Given the description of an element on the screen output the (x, y) to click on. 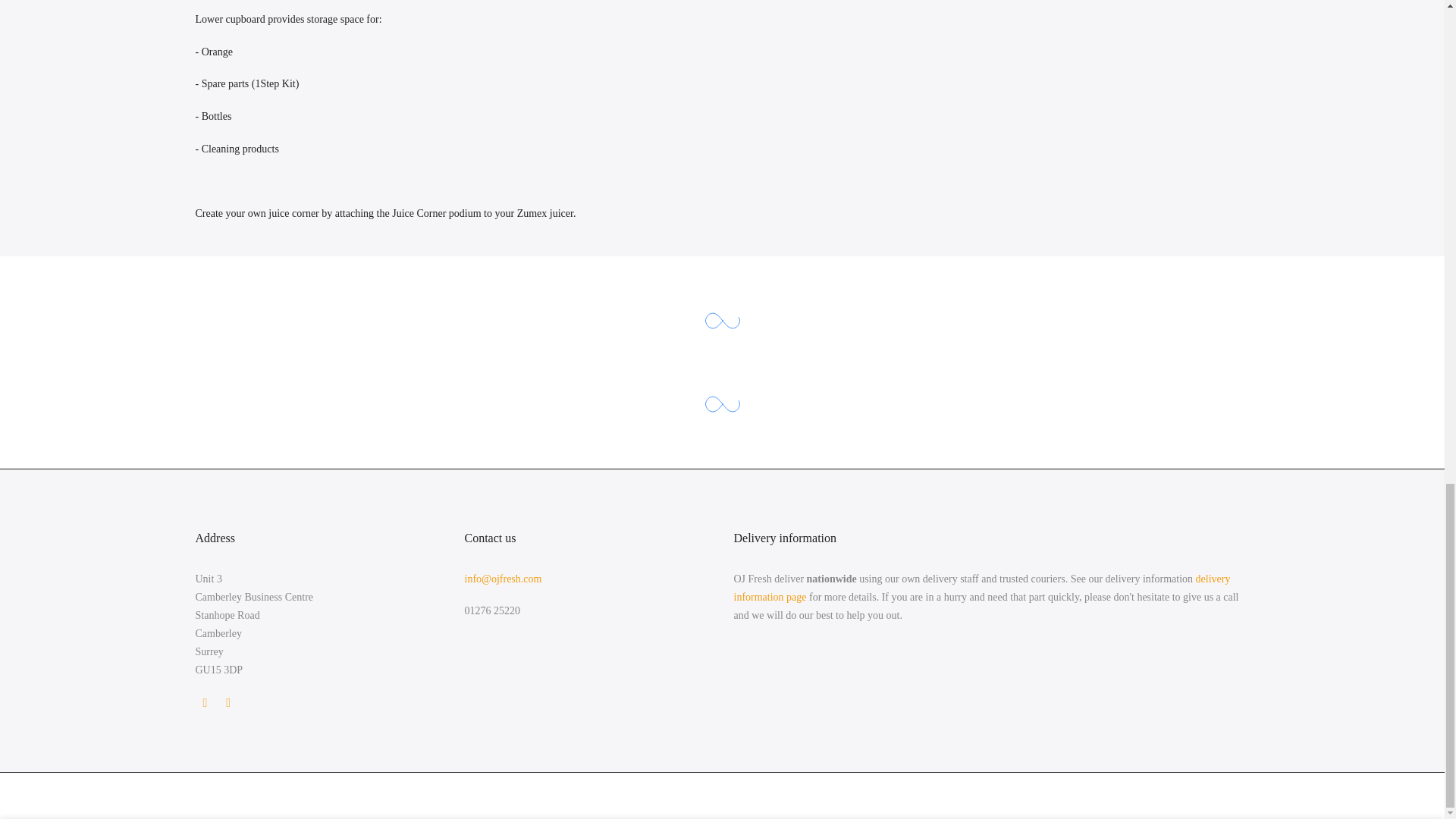
Delivery (981, 587)
